Given the description of an element on the screen output the (x, y) to click on. 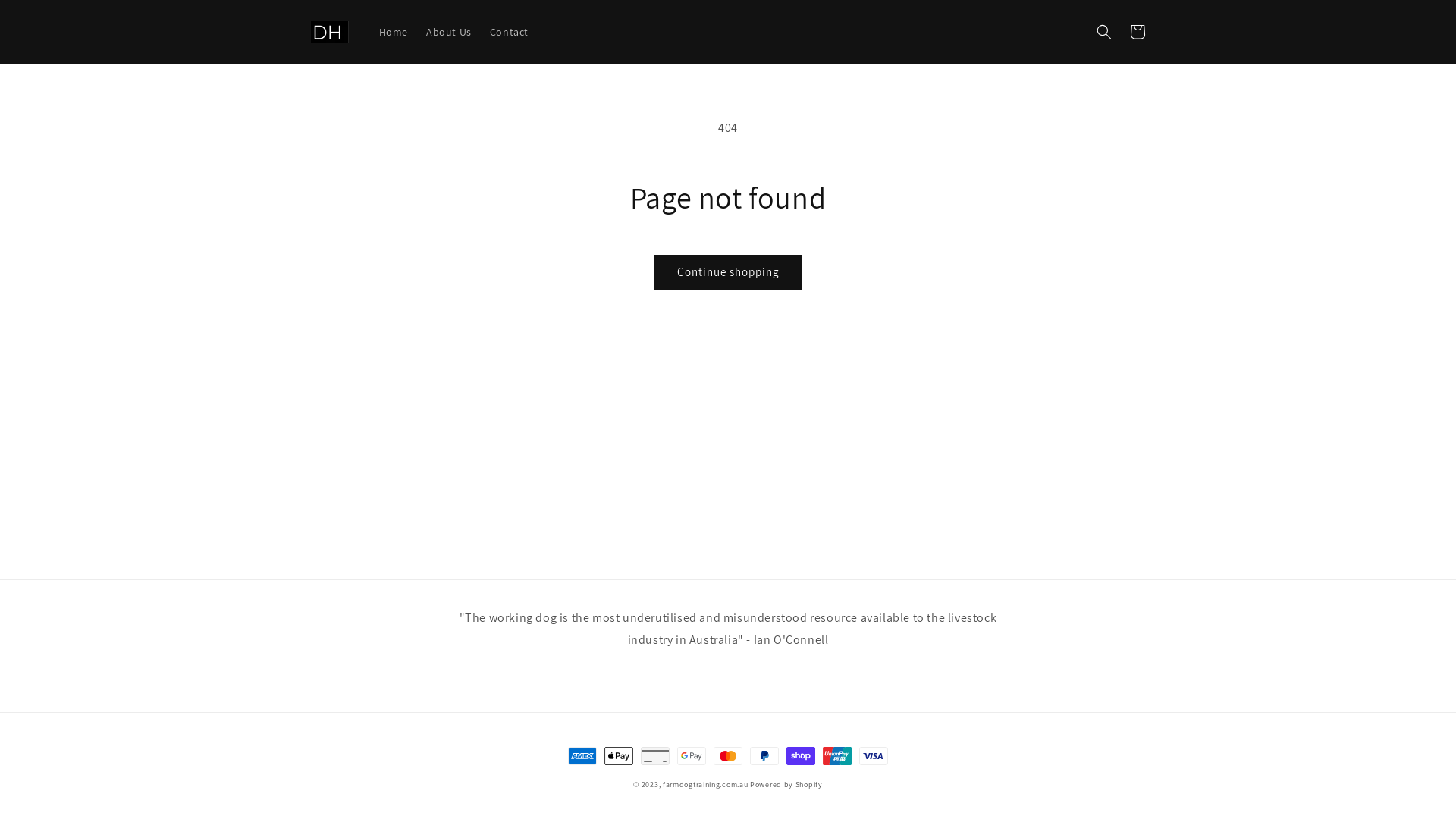
farmdogtraining.com.au Element type: text (704, 784)
Powered by Shopify Element type: text (785, 784)
Contact Element type: text (508, 31)
Continue shopping Element type: text (727, 272)
Cart Element type: text (1137, 31)
About Us Element type: text (448, 31)
Home Element type: text (393, 31)
